Given the description of an element on the screen output the (x, y) to click on. 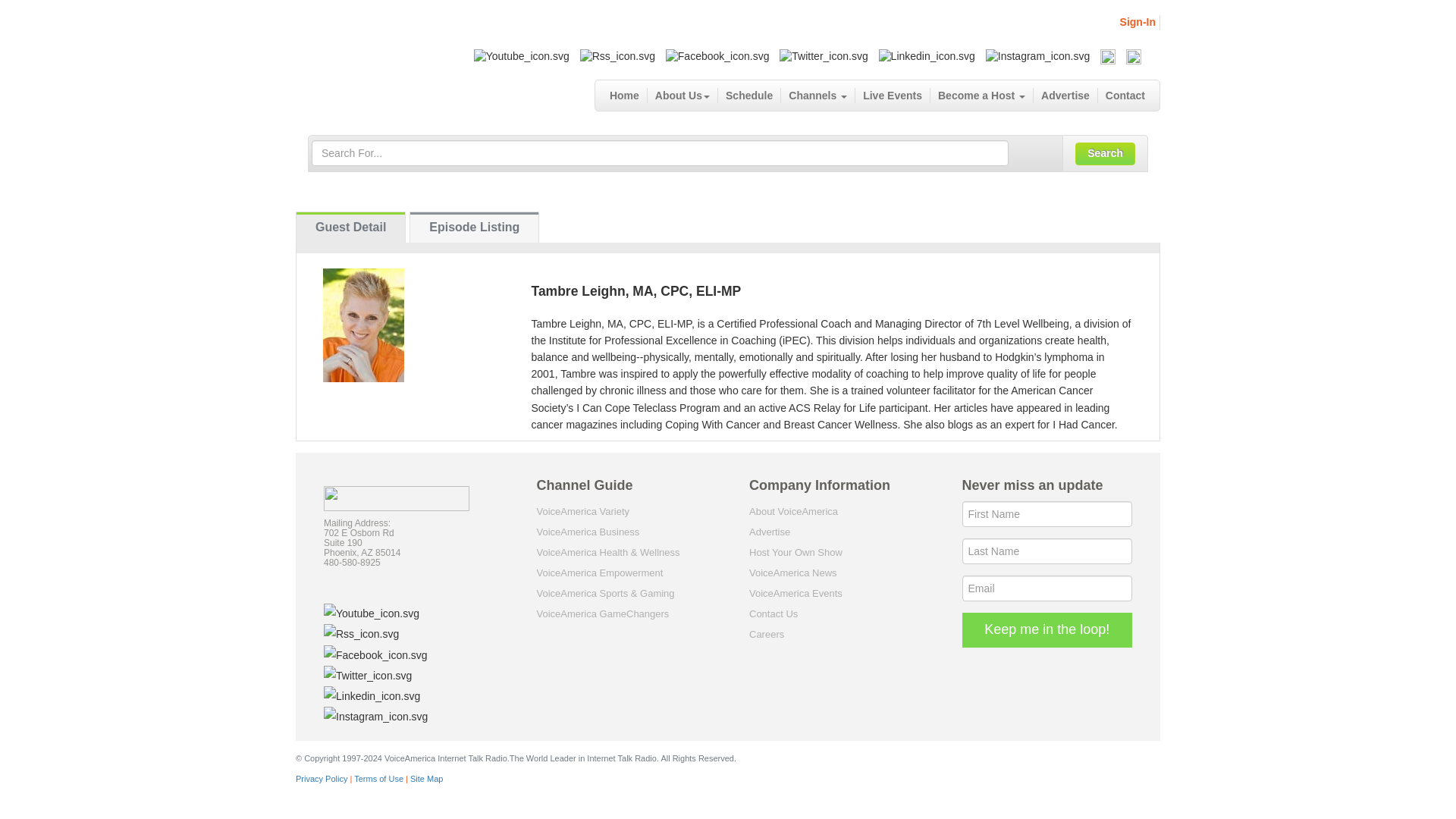
About VoiceAmerica (793, 511)
VoiceAmerica News (793, 572)
Host Your Own Show (796, 552)
About Us (682, 95)
Channels (818, 95)
Advertise (1065, 95)
VoiceAmerica Events (796, 593)
guest-episodes (474, 227)
VoiceAmerica GameChangers (603, 613)
Become a Host (981, 95)
